Given the description of an element on the screen output the (x, y) to click on. 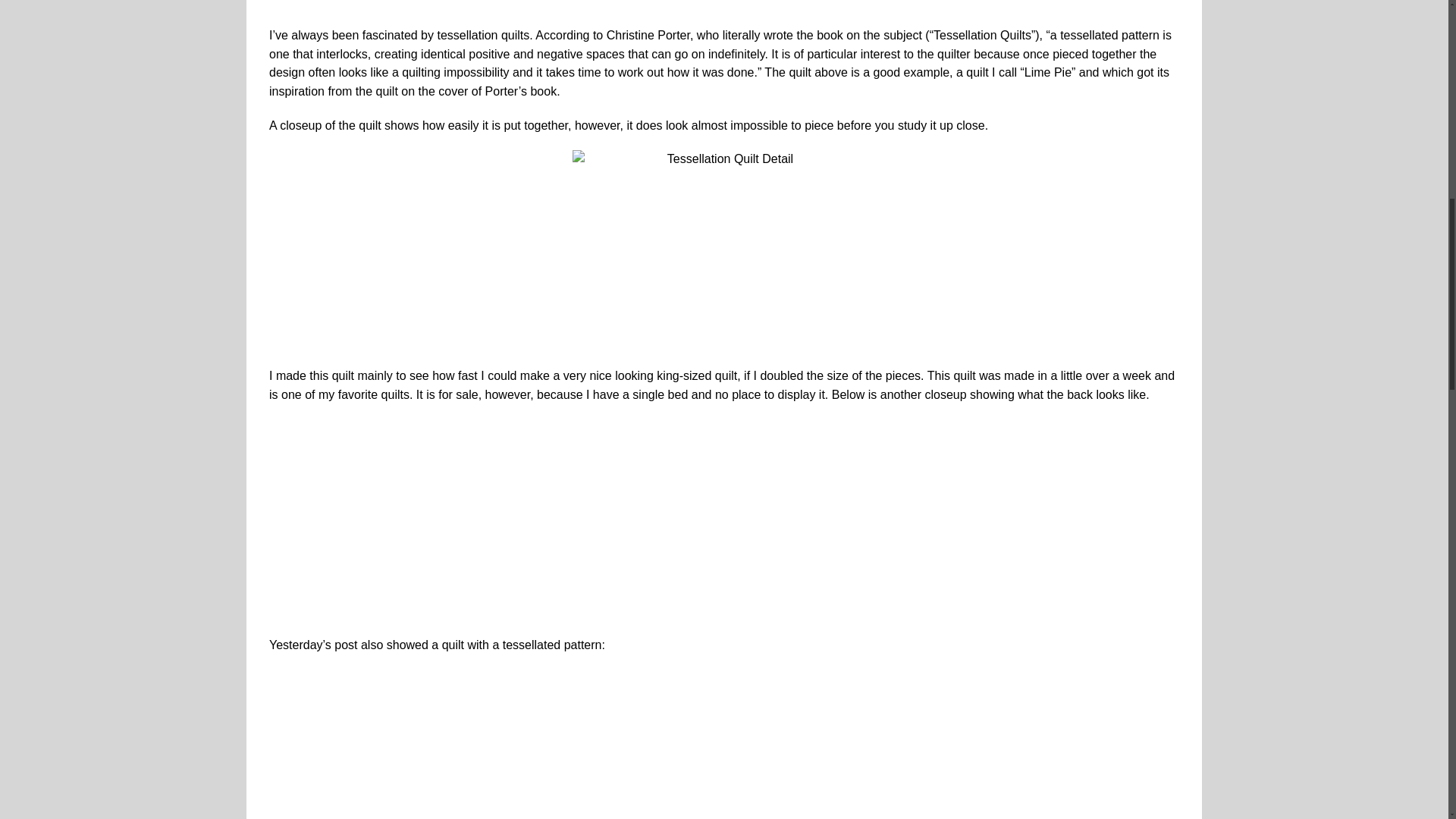
South Quilt detail (724, 744)
Lime Pie Quilt Resized (724, 5)
Lime Pie Quilt w Back Resized (724, 519)
Lime Pie Quilt Detail Resized (724, 250)
